Given the description of an element on the screen output the (x, y) to click on. 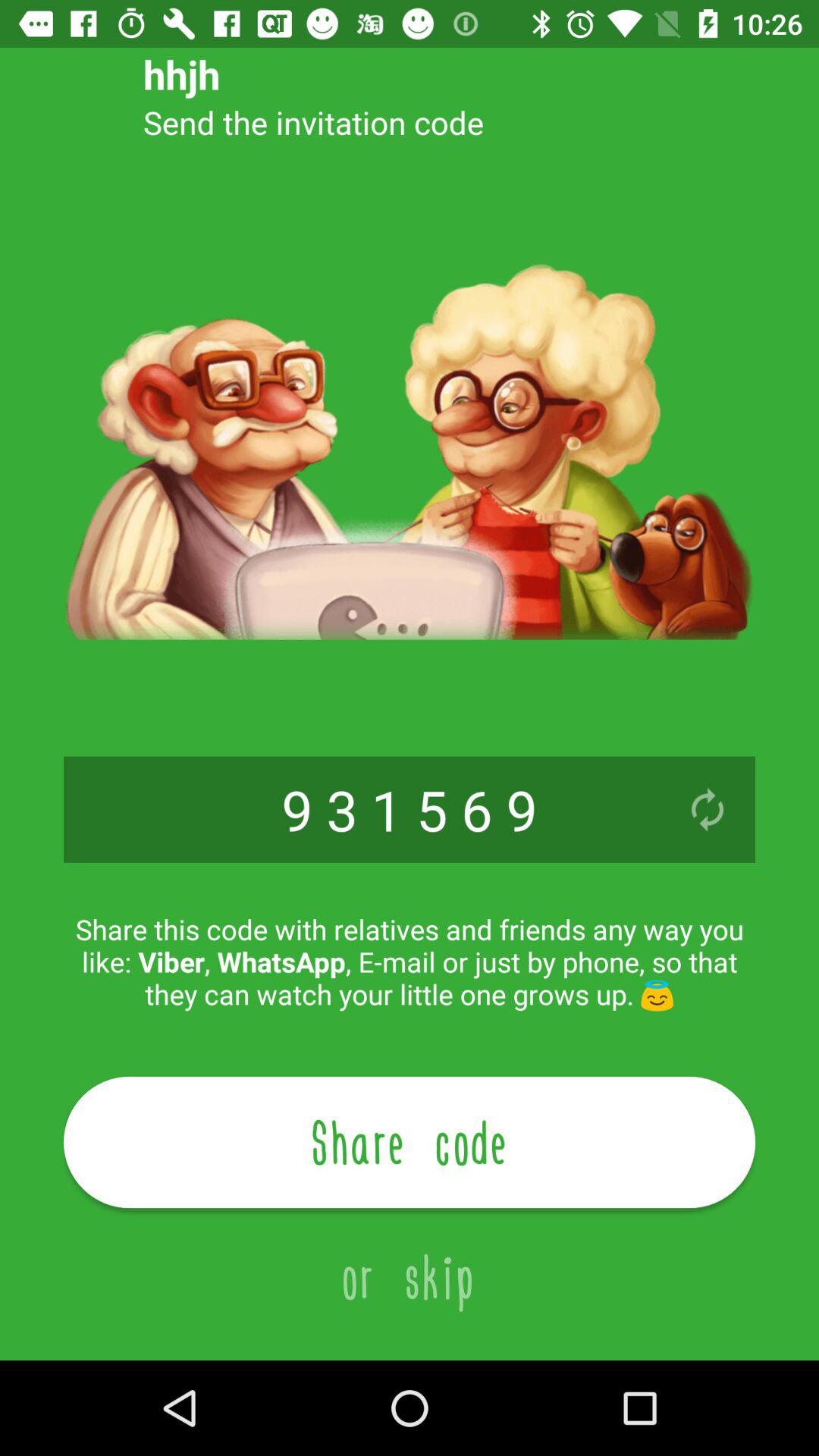
open the icon to the right of the 9 3 1 item (707, 809)
